Given the description of an element on the screen output the (x, y) to click on. 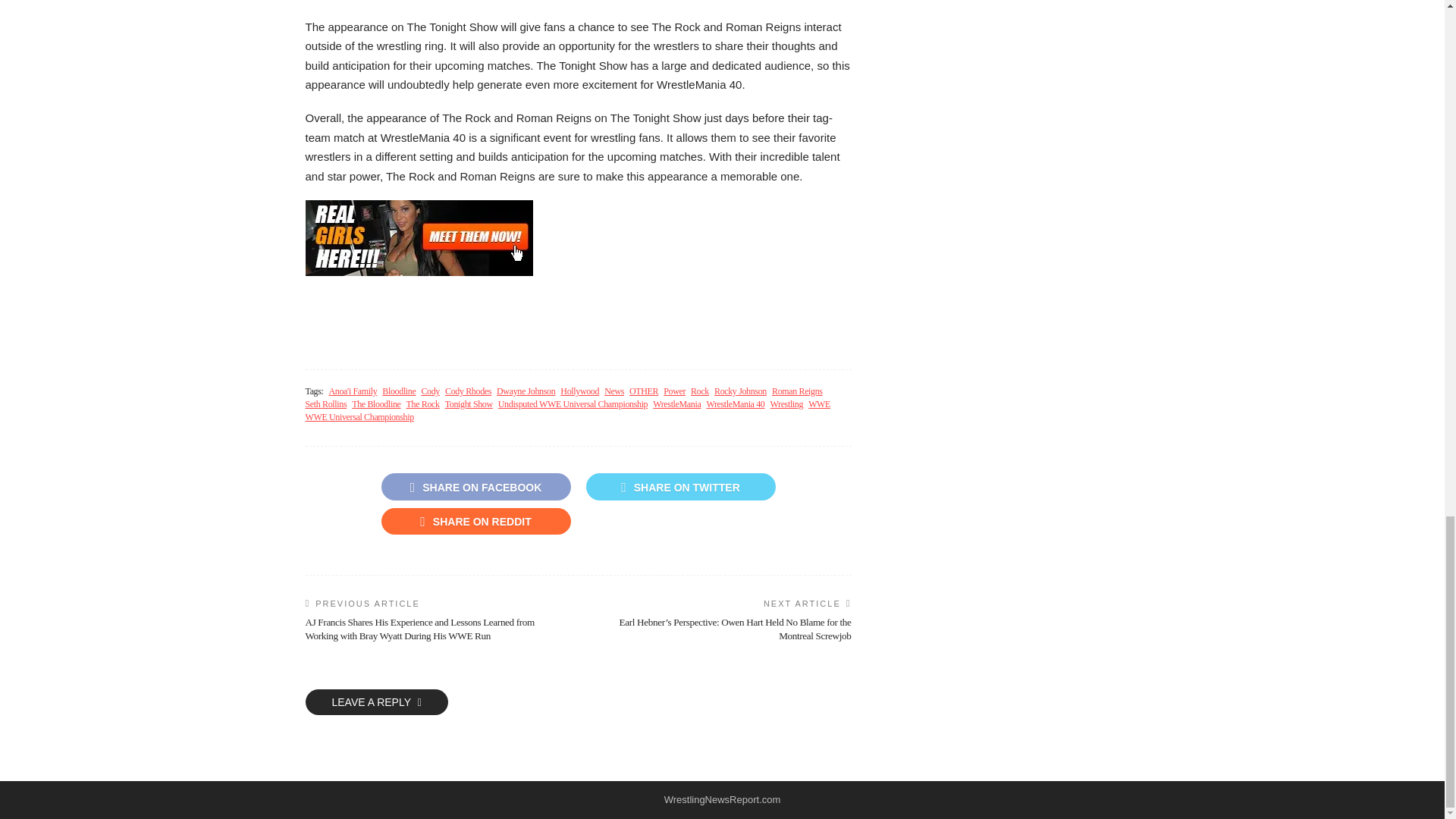
OTHER (643, 391)
Cody (429, 391)
Power (674, 391)
Cody Rhodes (468, 391)
Roman Reigns (796, 391)
Hollywood (579, 391)
Dwayne Johnson (525, 391)
Dwayne Johnson (525, 391)
Tonight Show (469, 404)
The Rock (422, 404)
